Given the description of an element on the screen output the (x, y) to click on. 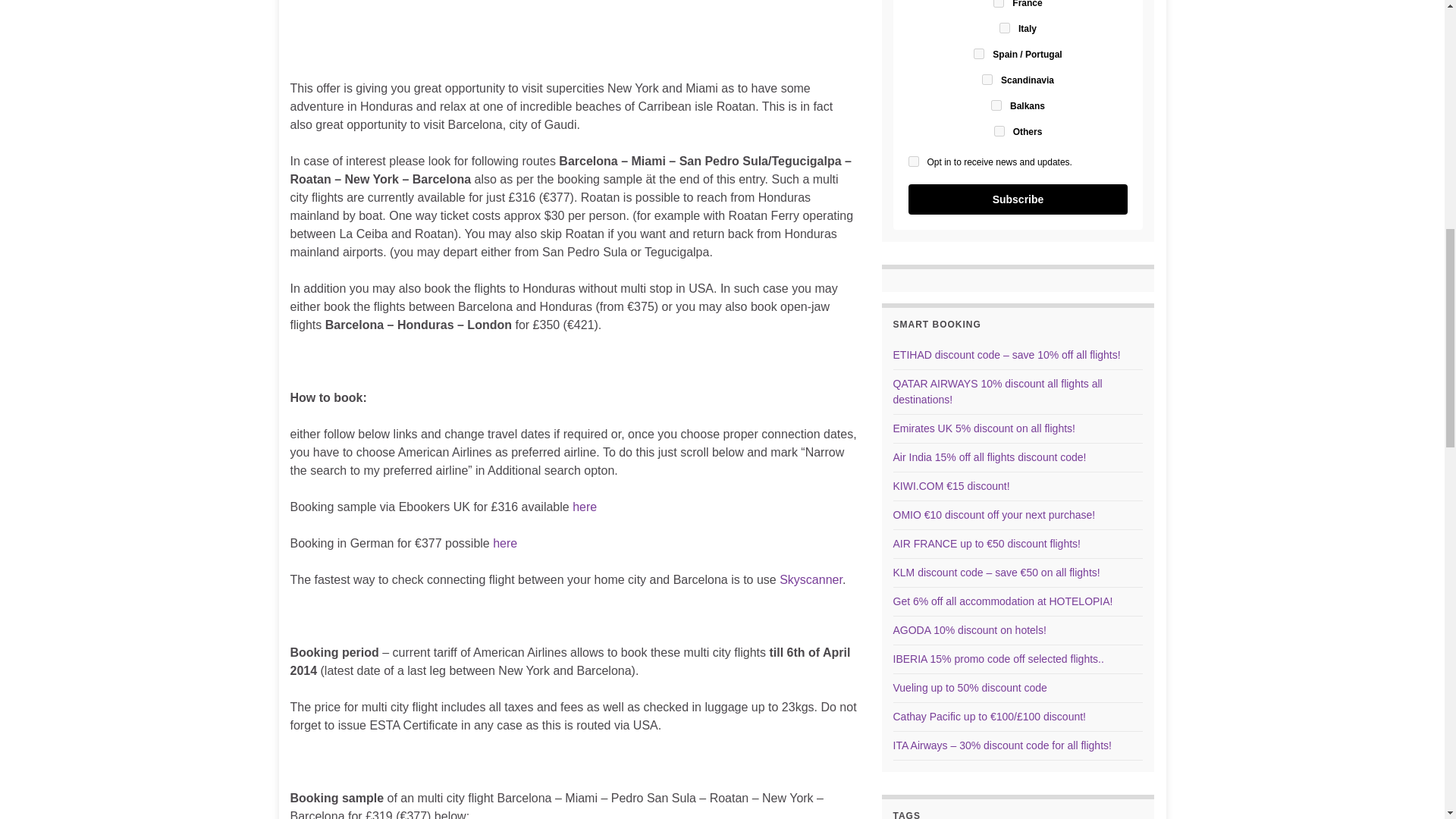
10691378 (996, 104)
10690620 (999, 131)
Subscribe (1018, 199)
here (584, 506)
10690618 (979, 53)
10690614 (1004, 27)
here (504, 543)
10690612 (998, 3)
10690616 (986, 79)
on (913, 161)
Skyscanner (810, 579)
